Given the description of an element on the screen output the (x, y) to click on. 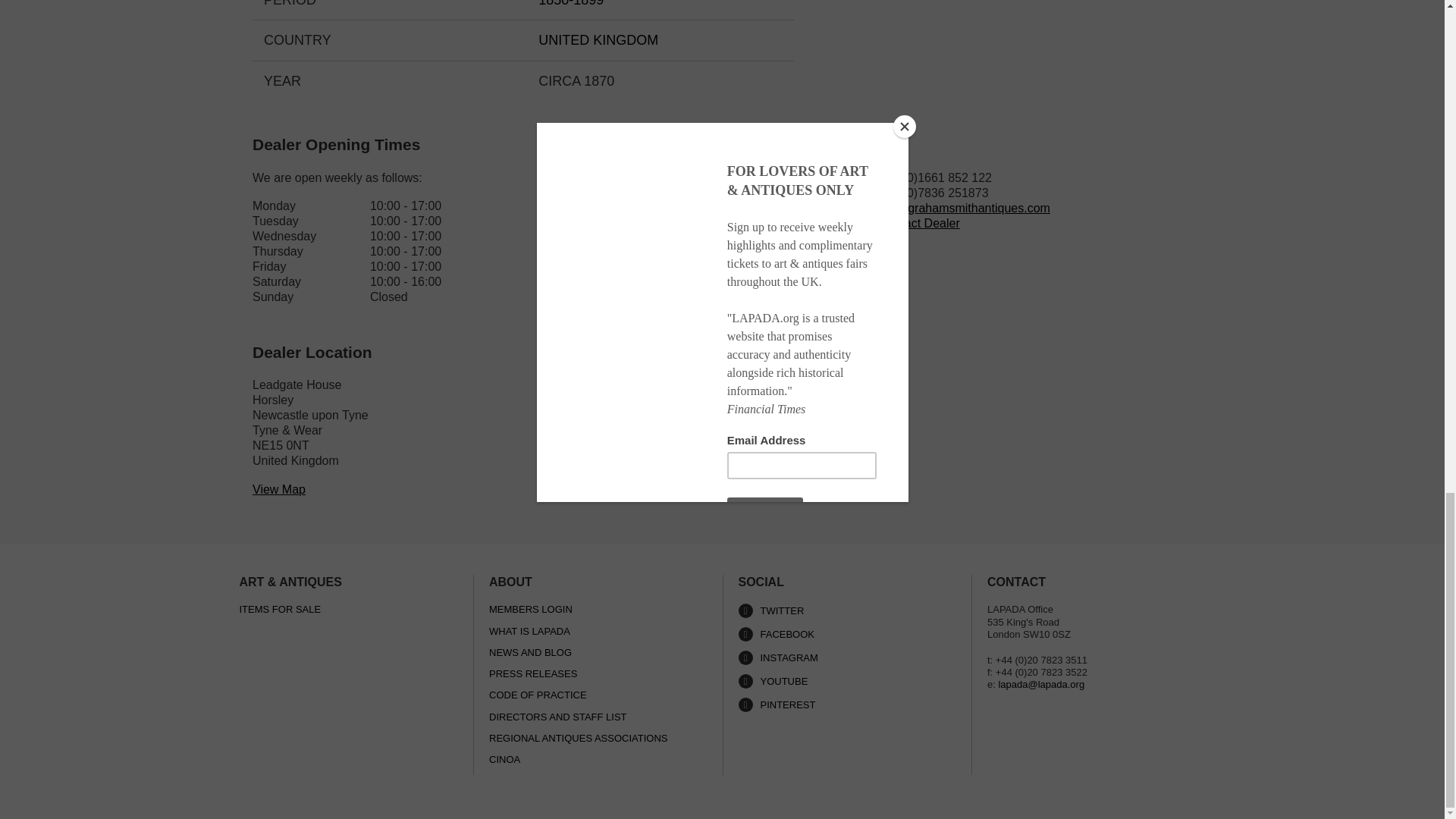
Learn more about LAPADA (847, 681)
Like us on Facebook (847, 634)
Follow us on Twitter (847, 610)
